Given the description of an element on the screen output the (x, y) to click on. 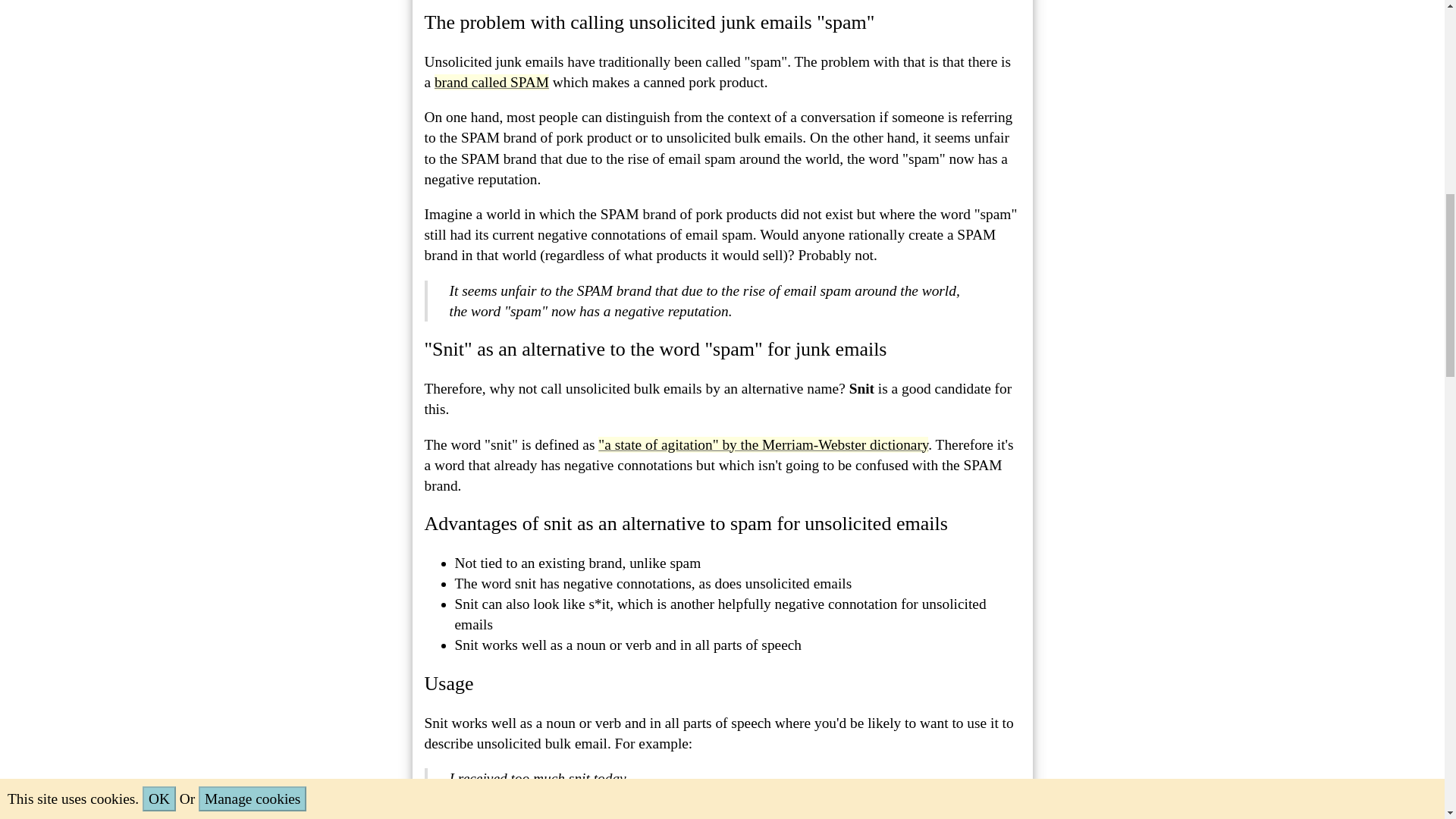
"a state of agitation" by the Merriam-Webster dictionary (763, 444)
brand called SPAM (490, 82)
